Given the description of an element on the screen output the (x, y) to click on. 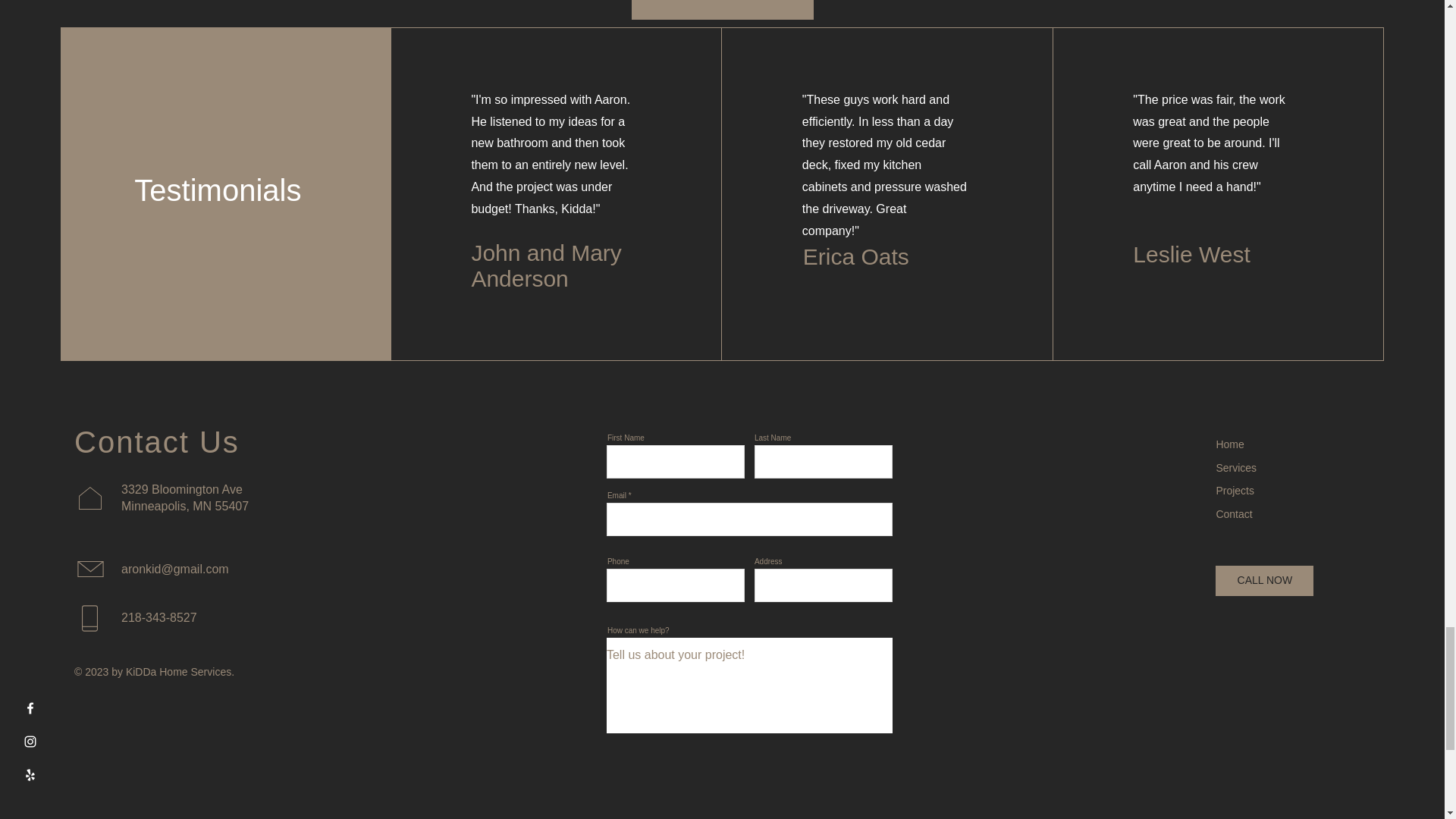
Services (1235, 467)
VIEW ALL (721, 9)
Contact (1233, 513)
CALL NOW (1264, 580)
Projects (1234, 490)
Home (1229, 444)
